Given the description of an element on the screen output the (x, y) to click on. 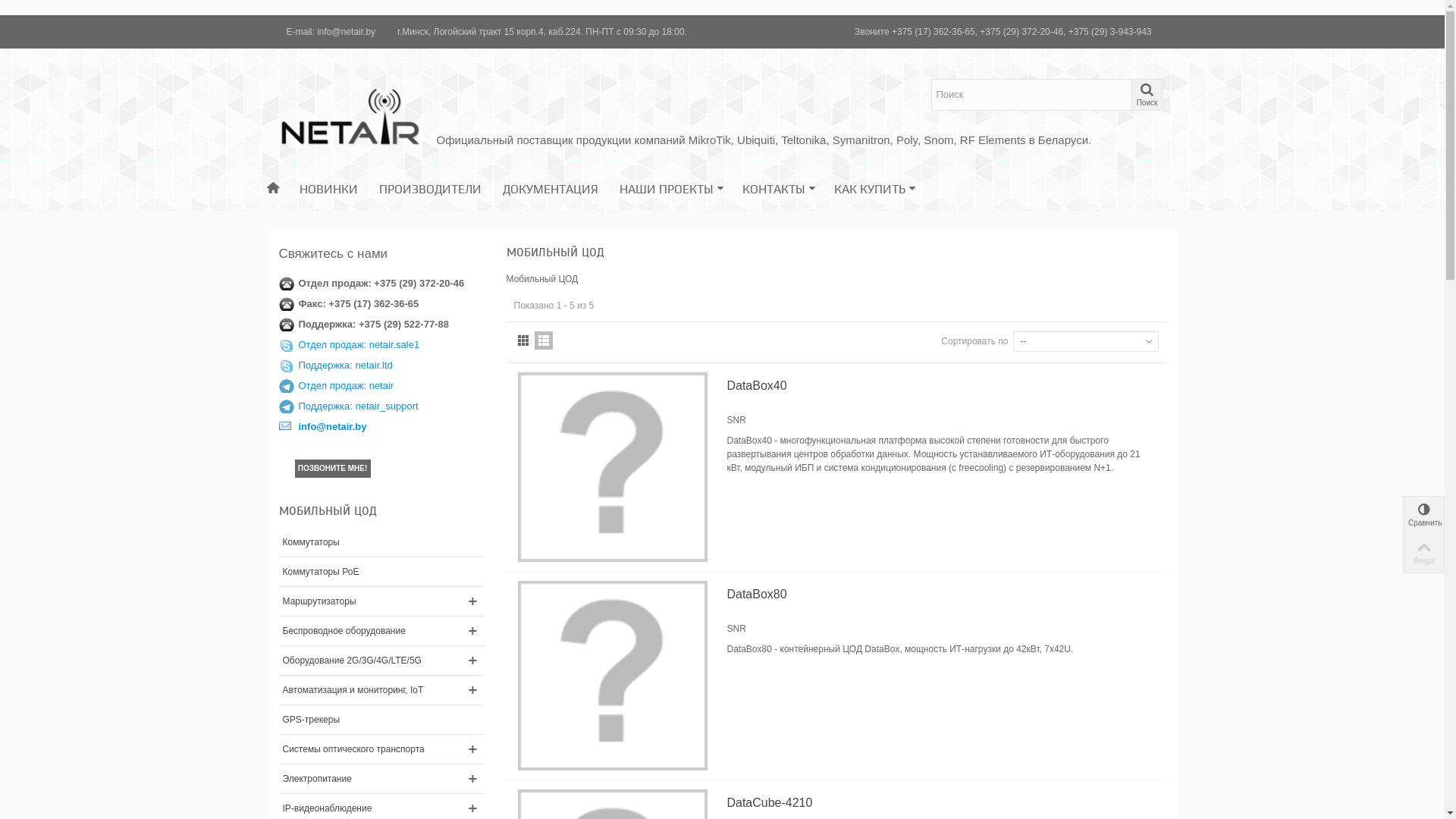
DataBox80 Element type: hover (611, 675)
List Element type: hover (543, 340)
info@netair.by Element type: text (332, 426)
DataBox40 Element type: hover (611, 466)
DataBox40 Element type: text (937, 385)
DataBox80 Element type: text (937, 594)
E-mail: info@netair.by Element type: text (333, 31)
DataCube-4210 Element type: text (937, 802)
Grid Element type: hover (523, 340)
